Given the description of an element on the screen output the (x, y) to click on. 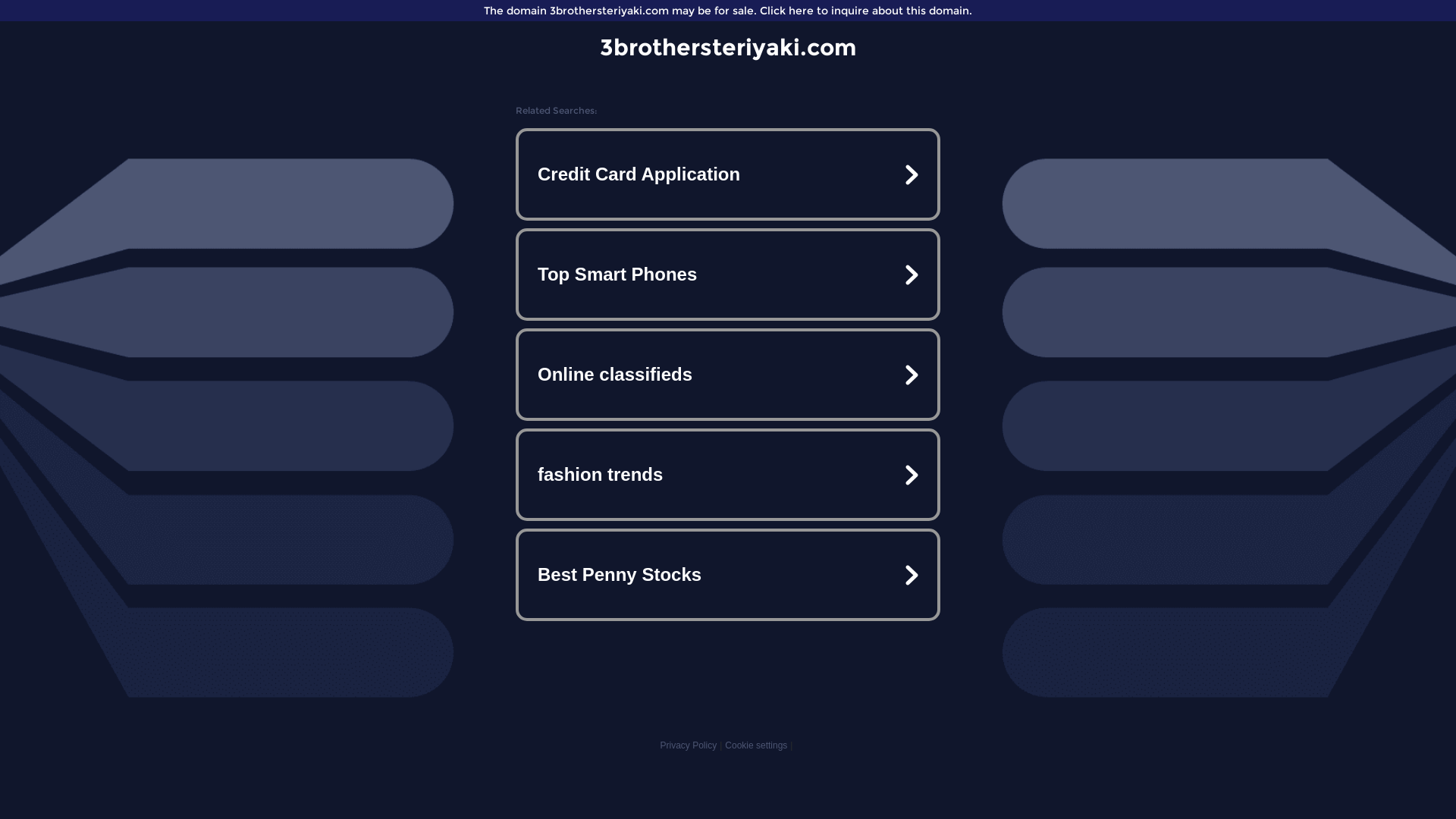
3brothersteriyaki.com Element type: text (727, 47)
Credit Card Application Element type: text (727, 174)
fashion trends Element type: text (727, 474)
Online classifieds Element type: text (727, 374)
Cookie settings Element type: text (755, 745)
Top Smart Phones Element type: text (727, 274)
Privacy Policy Element type: text (687, 745)
Best Penny Stocks Element type: text (727, 574)
